Given the description of an element on the screen output the (x, y) to click on. 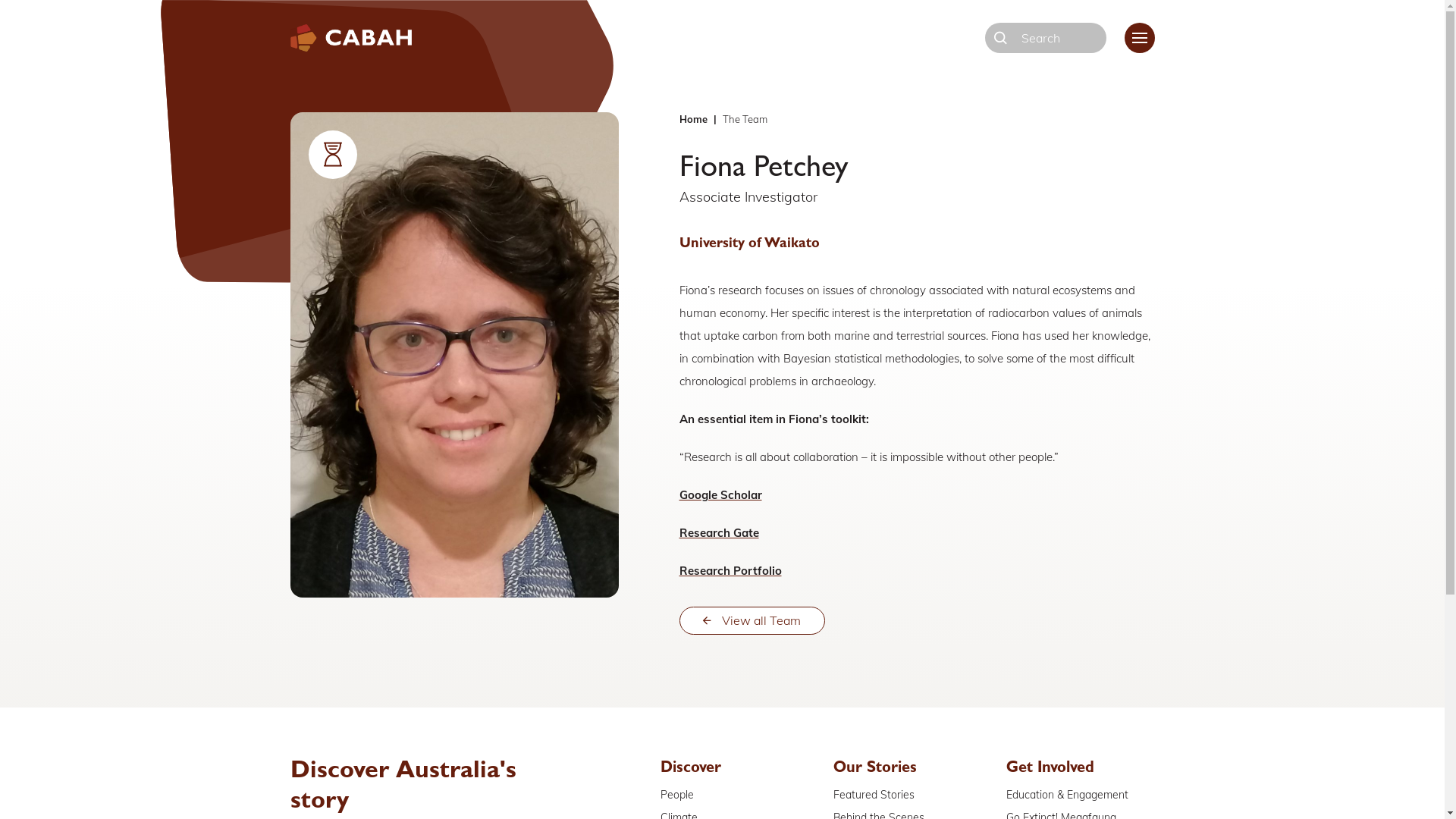
Research Portfolio Element type: text (730, 570)
Research Gate Element type: text (719, 532)
People Element type: text (676, 794)
Featured Stories Element type: text (873, 794)
The Team Element type: text (743, 118)
Google Scholar Element type: text (720, 494)
Home Element type: text (693, 118)
Education & Engagement Element type: text (1067, 794)
